Given the description of an element on the screen output the (x, y) to click on. 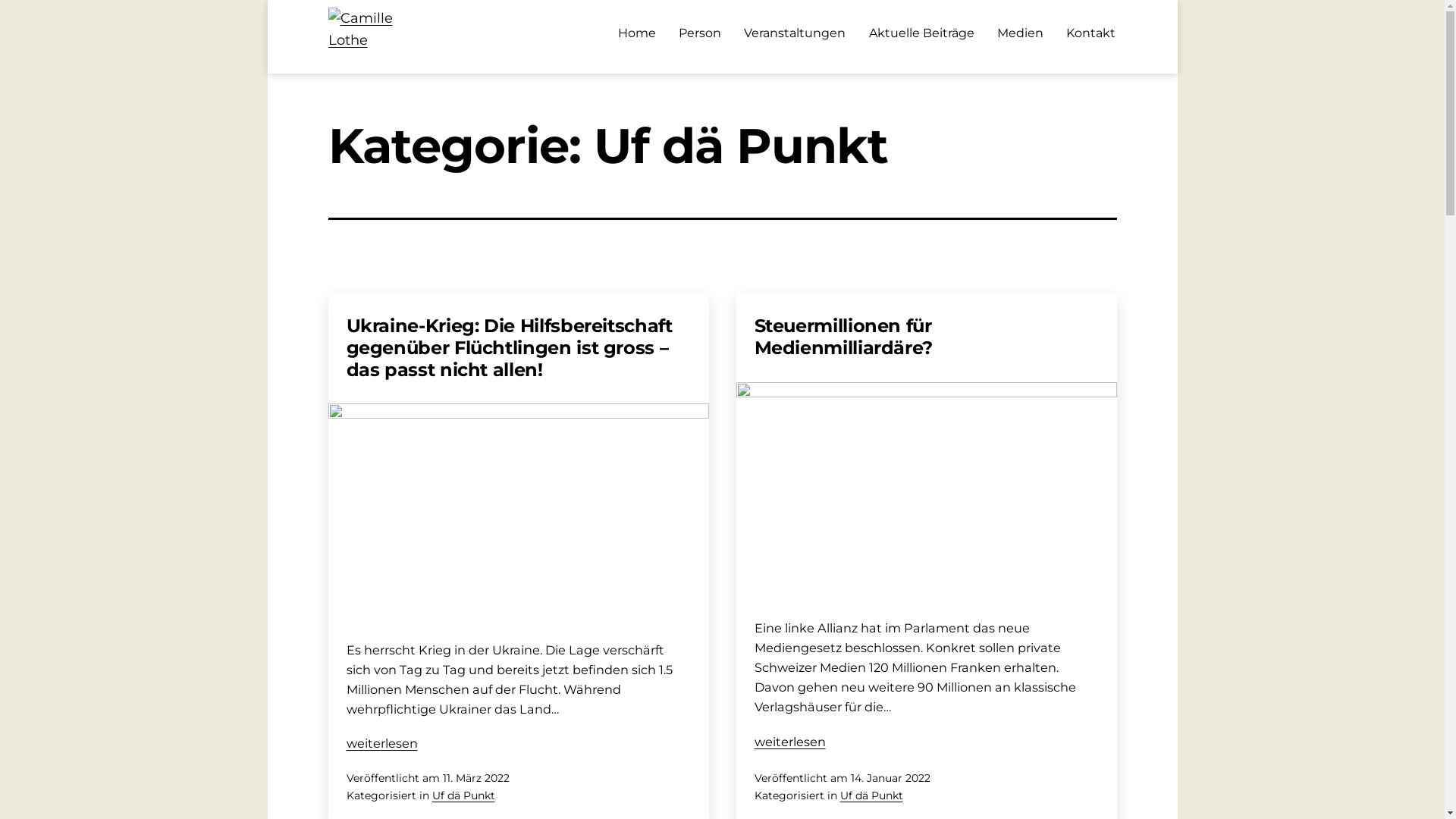
Kontakt Element type: text (1090, 33)
Veranstaltungen Element type: text (794, 33)
Person Element type: text (699, 33)
Medien Element type: text (1019, 33)
Home Element type: text (636, 33)
